Given the description of an element on the screen output the (x, y) to click on. 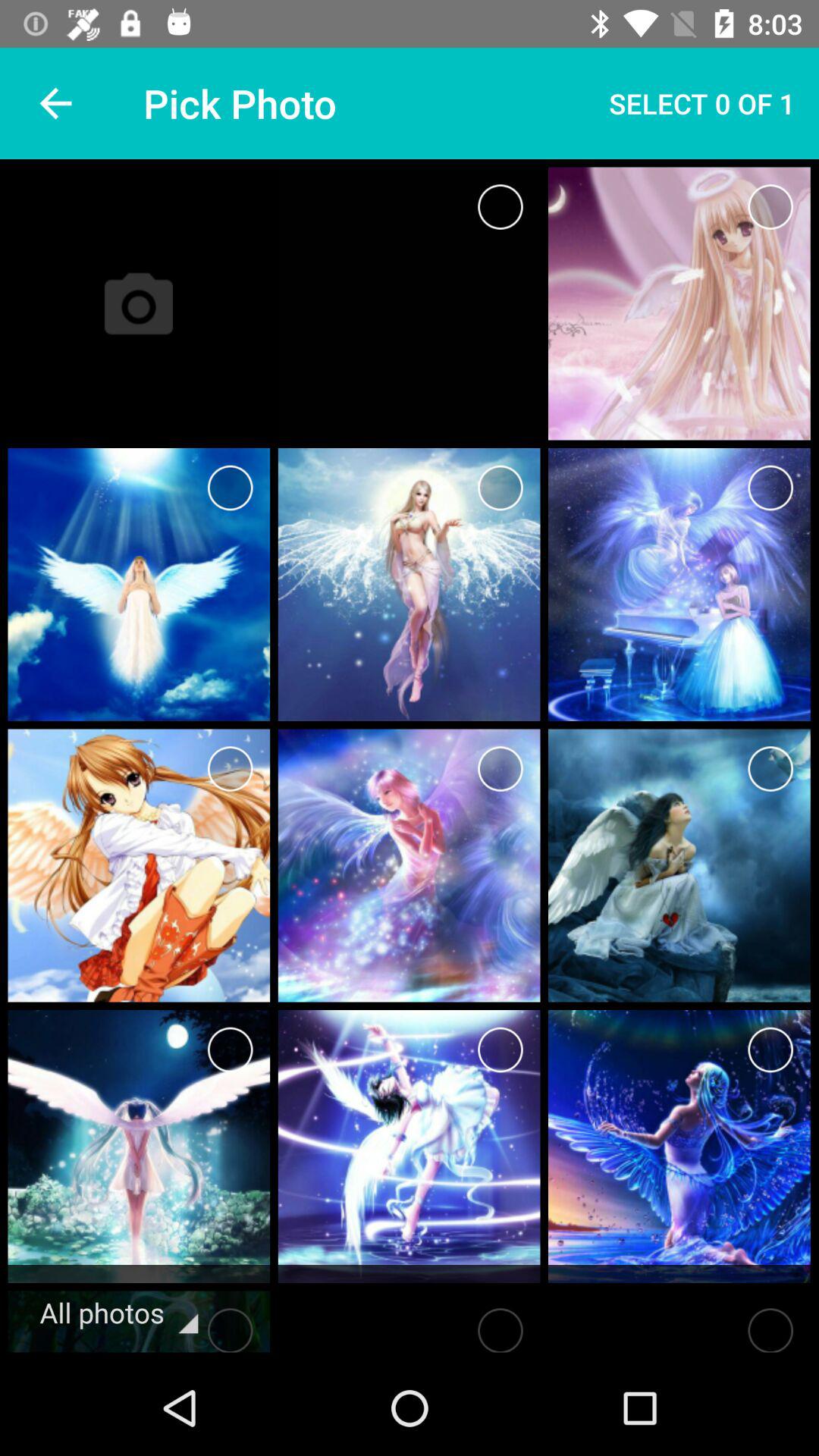
image selected icon (500, 1049)
